Given the description of an element on the screen output the (x, y) to click on. 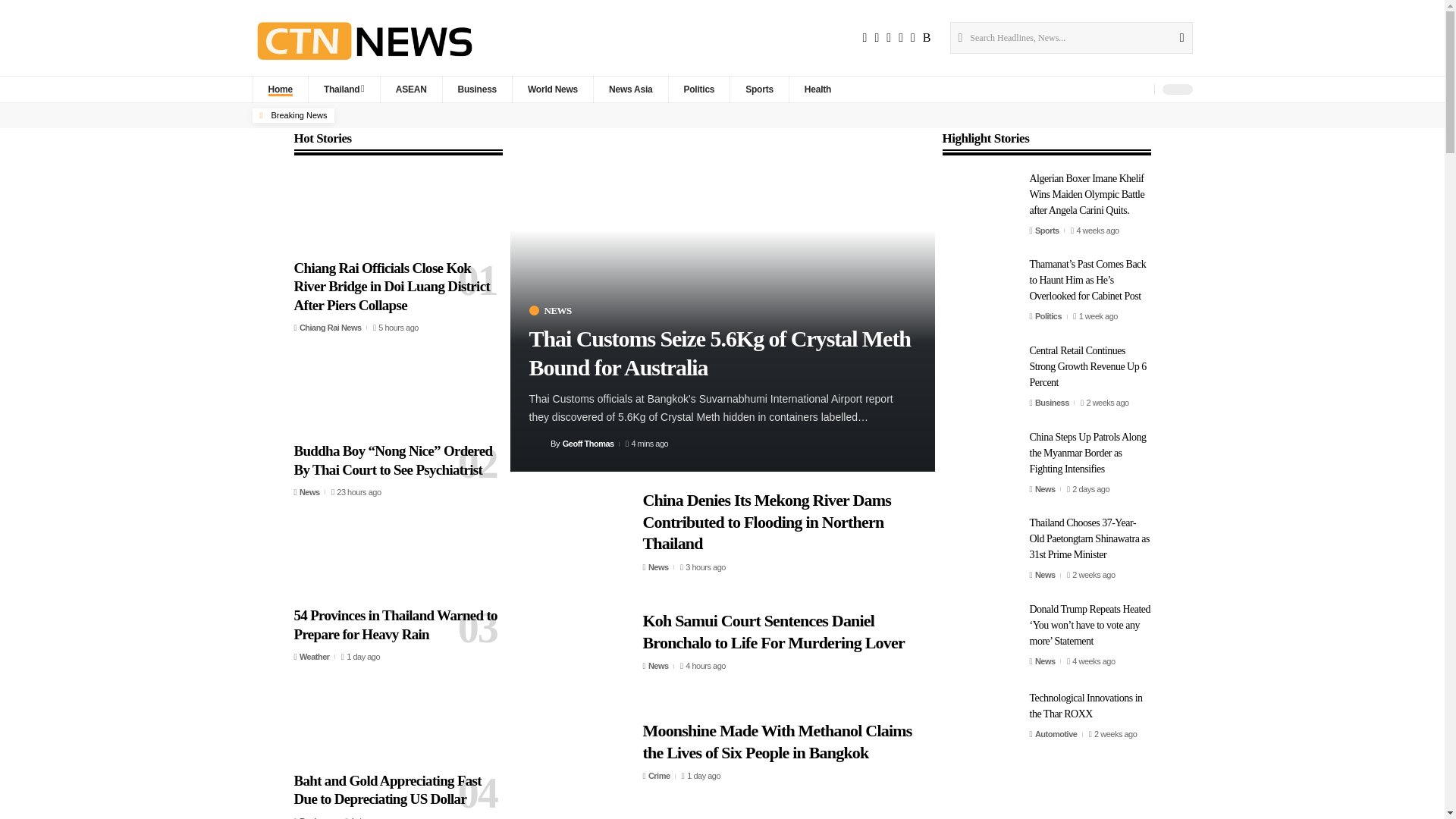
54 Provinces in Thailand Warned to Prepare for Heavy Rain (398, 559)
Home (279, 89)
Politics (697, 89)
Health (817, 89)
Central Retail Continues Strong Growth Revenue Up 6 Percent (979, 376)
World News (552, 89)
